Given the description of an element on the screen output the (x, y) to click on. 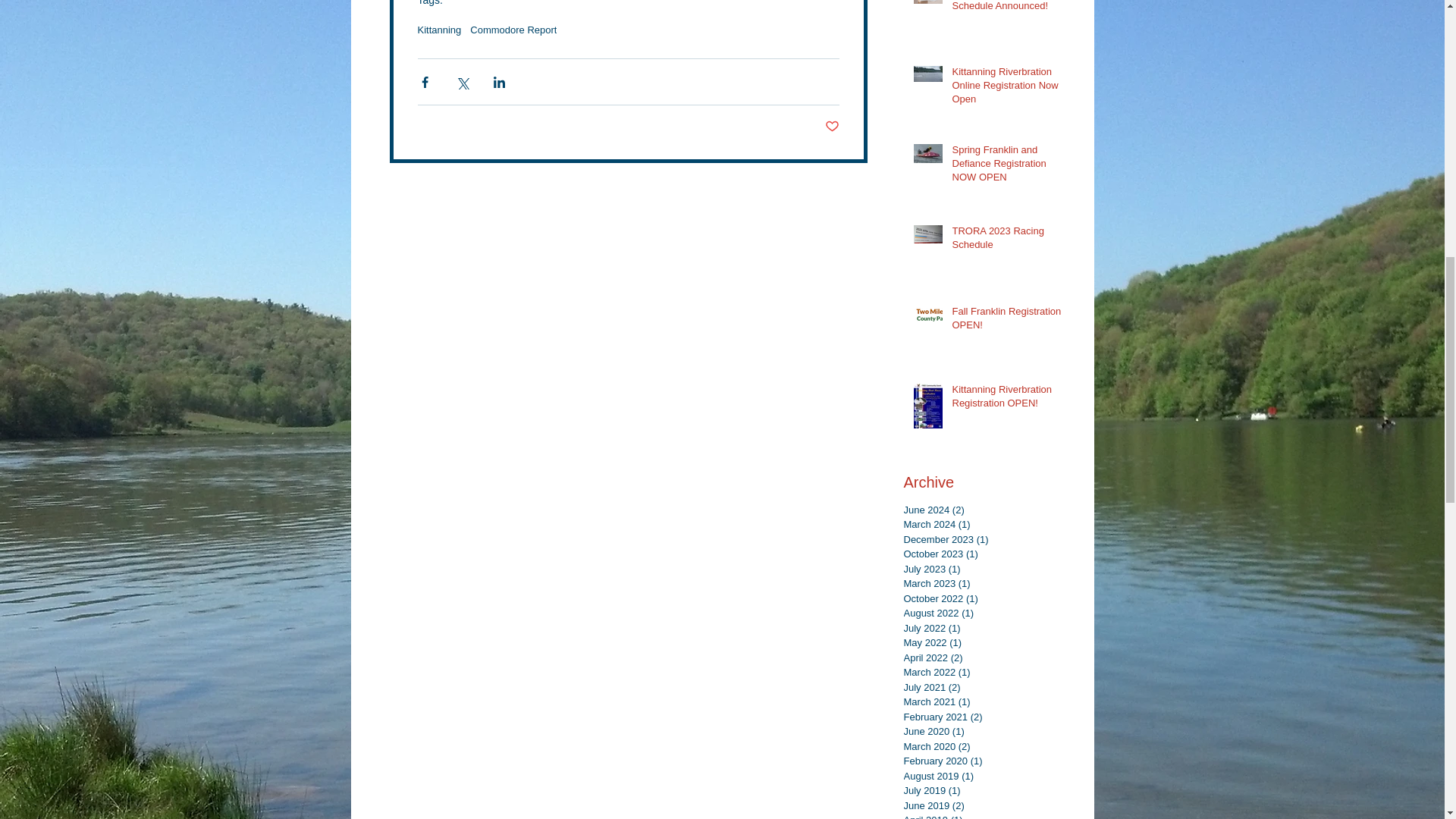
Post not marked as liked (832, 126)
Kittanning (438, 30)
Spring Franklin and Defiance Registration NOW OPEN (1006, 166)
2024 TRORA Racing Schedule Announced! (1006, 9)
TRORA 2023 Racing Schedule (1006, 240)
Kittanning Riverbration Online Registration Now Open (1006, 89)
Commodore Report (513, 30)
Kittanning Riverbration Registration OPEN! (1006, 399)
Fall Franklin Registration OPEN! (1006, 321)
